Given the description of an element on the screen output the (x, y) to click on. 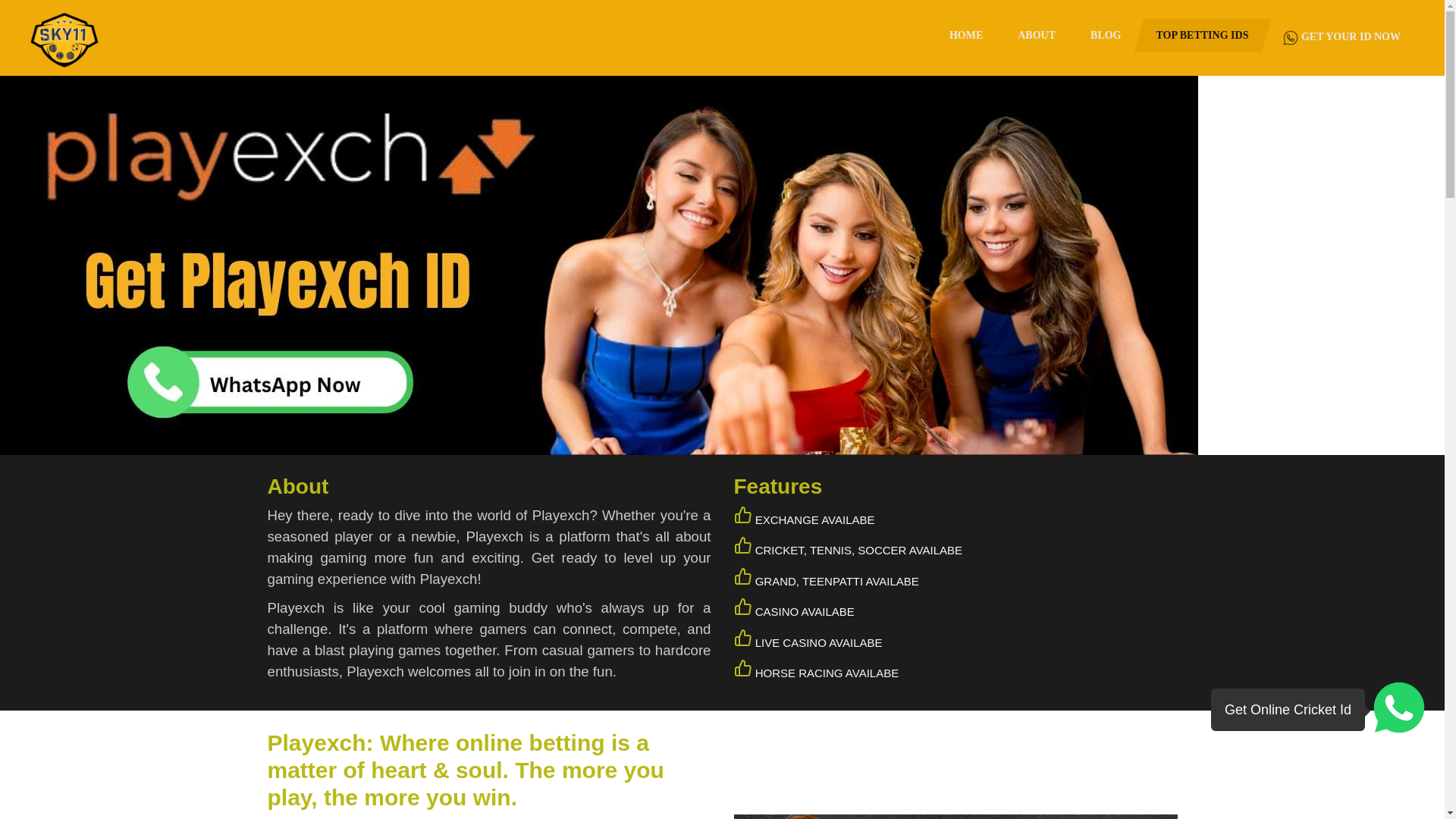
cricketsky11 logo (63, 36)
Get Online Cricket Id (1318, 709)
HOME (965, 35)
BLOG (1105, 35)
ABOUT (1036, 35)
TOP BETTING IDS (1202, 35)
GET YOUR ID NOW (1341, 37)
